Given the description of an element on the screen output the (x, y) to click on. 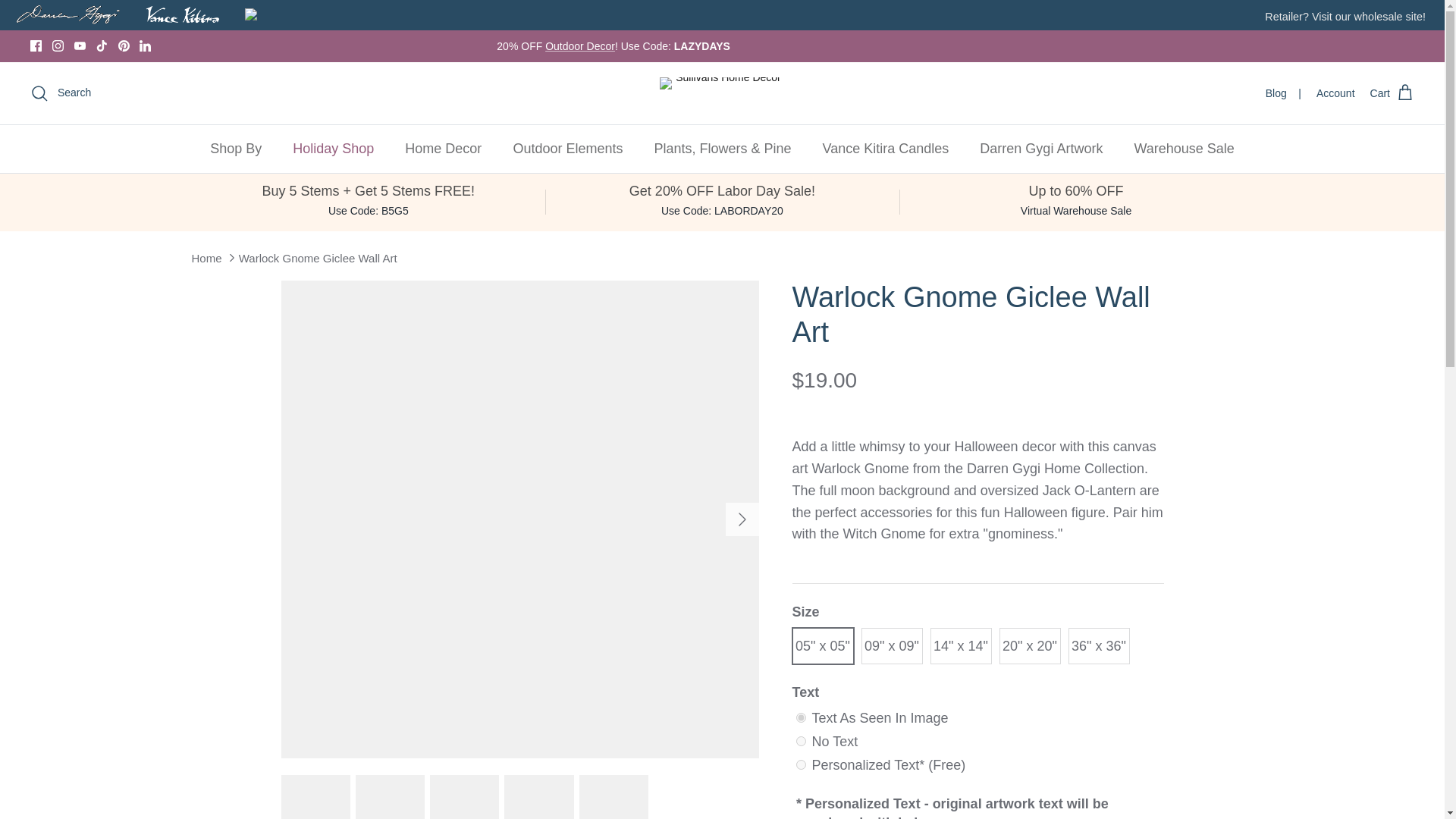
Woodstock Elements Sale (579, 46)
Pinterest (123, 45)
Cart (1391, 93)
Retailer? Visit our wholesale site! (1345, 16)
RIGHT (741, 518)
Instagram (58, 45)
No Text (801, 741)
Account (1335, 93)
Instagram (58, 45)
Search (60, 93)
